Given the description of an element on the screen output the (x, y) to click on. 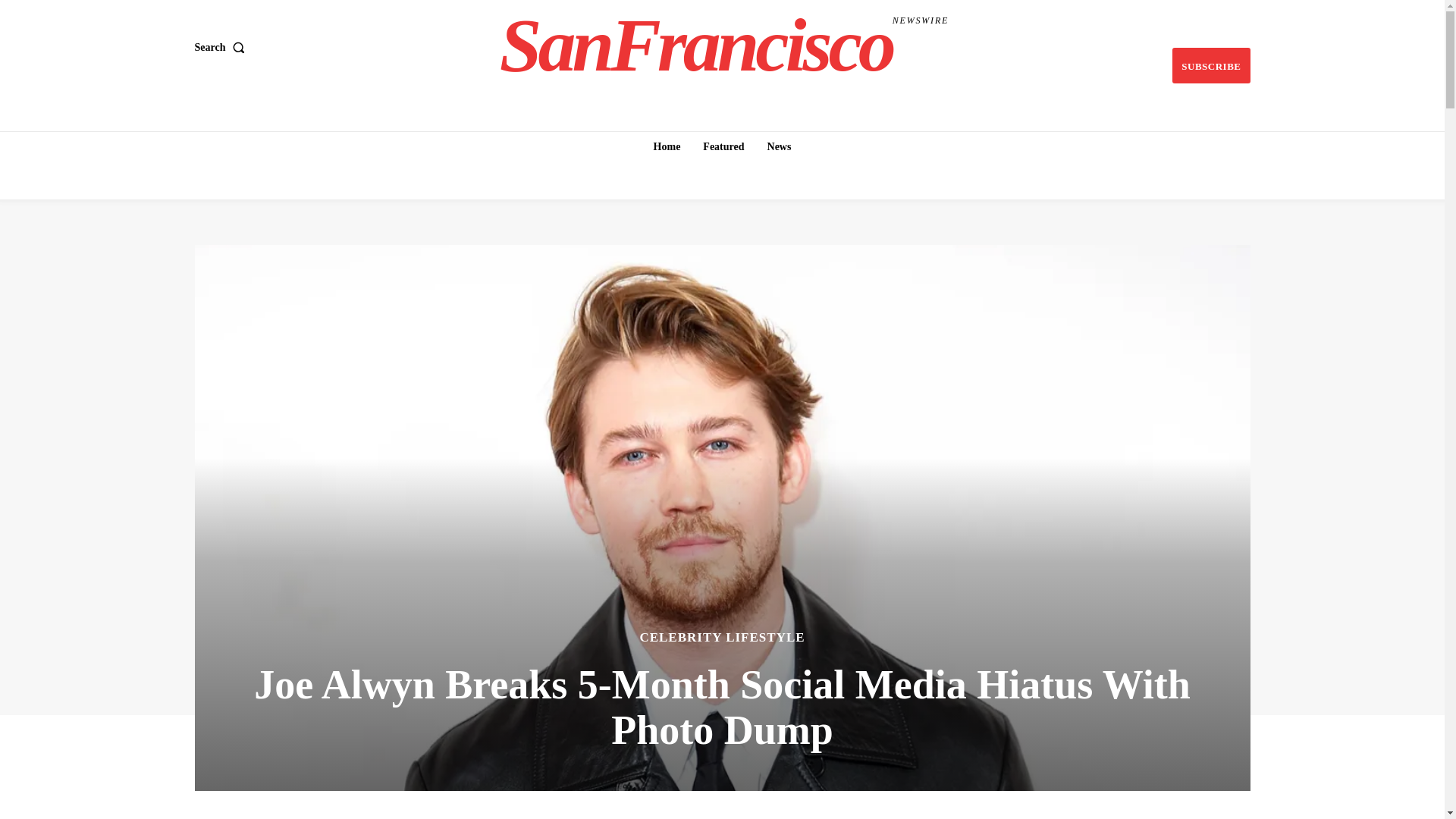
CELEBRITY LIFESTYLE (722, 636)
News (724, 45)
Search (779, 146)
SUBSCRIBE (221, 47)
Featured (1210, 65)
Home (723, 146)
